Given the description of an element on the screen output the (x, y) to click on. 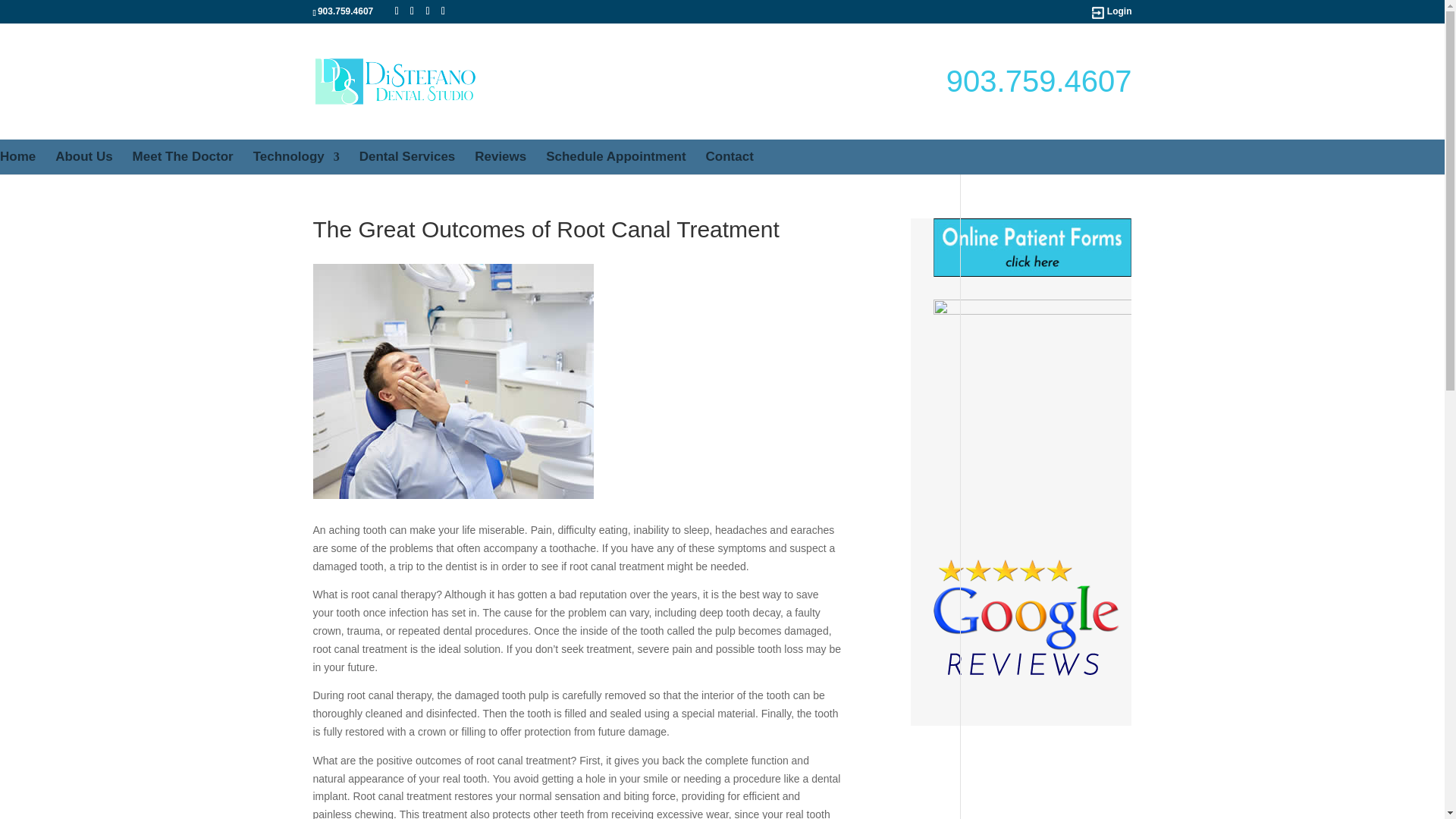
Reviews (499, 156)
903.759.4607 (1039, 80)
Login (1119, 12)
Contact (730, 156)
Dental Services (407, 156)
About Us (84, 156)
Technology (296, 156)
Schedule Appointment (615, 156)
Home (17, 156)
Meet The Doctor (182, 156)
903.759.4607 (344, 10)
